Given the description of an element on the screen output the (x, y) to click on. 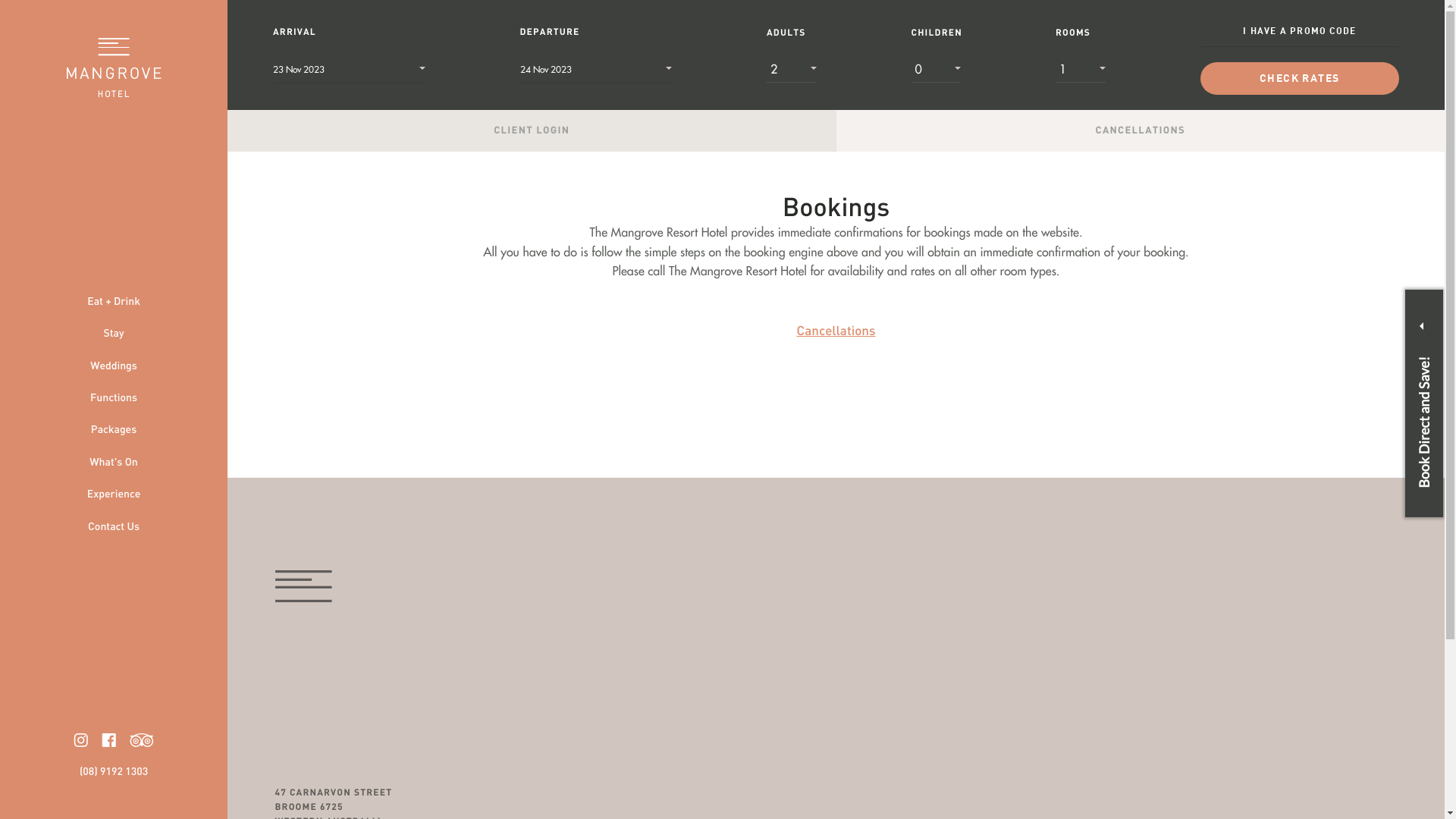
Find us on Facebook Element type: text (109, 740)
(08) 9192 1303 Element type: text (113, 772)
What's On Element type: text (113, 463)
CANCELLATIONS Element type: text (1139, 130)
Packages Element type: text (113, 430)
CHECK RATES Element type: text (1299, 78)
Eat + Drink Element type: text (113, 302)
CLIENT LOGIN Element type: text (531, 130)
Contact Us Element type: text (113, 527)
MANGROVE HOTEL Element type: text (303, 586)
Experience Element type: text (113, 495)
Find us on Instagram Element type: text (80, 740)
Stay Element type: text (113, 334)
Find us on Tripadvisor Element type: text (141, 740)
Functions Element type: text (113, 398)
Click here to return home Element type: text (113, 67)
Cancellations Element type: text (836, 332)
Weddings Element type: text (113, 366)
